Given the description of an element on the screen output the (x, y) to click on. 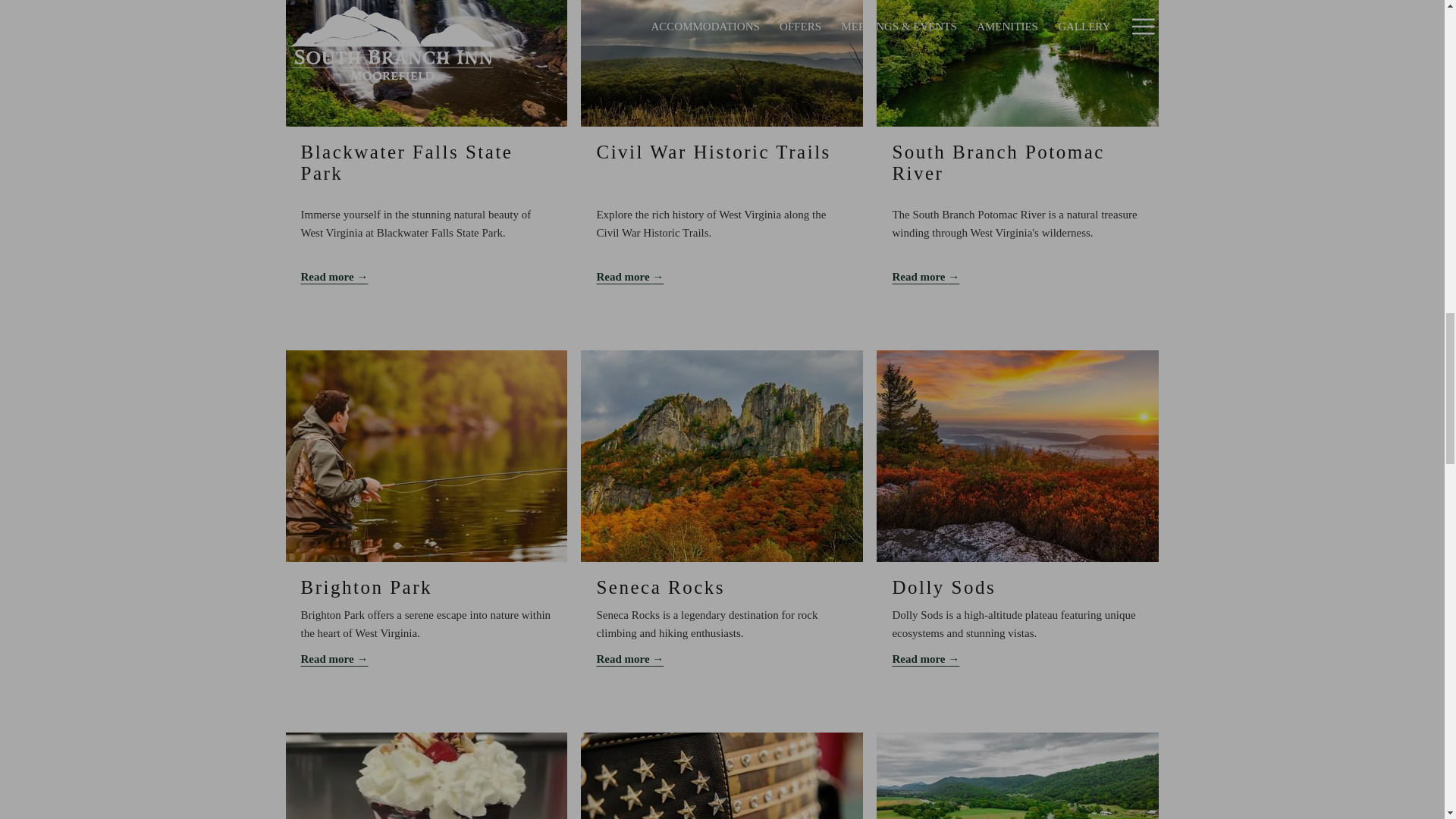
Brighton Park (364, 587)
South Branch Potomac River (998, 162)
Read more (721, 276)
Read more (425, 276)
Read more (425, 659)
Blackwater Falls State Park (405, 162)
Civil War Historic Trails (712, 151)
Read more (1016, 276)
